Given the description of an element on the screen output the (x, y) to click on. 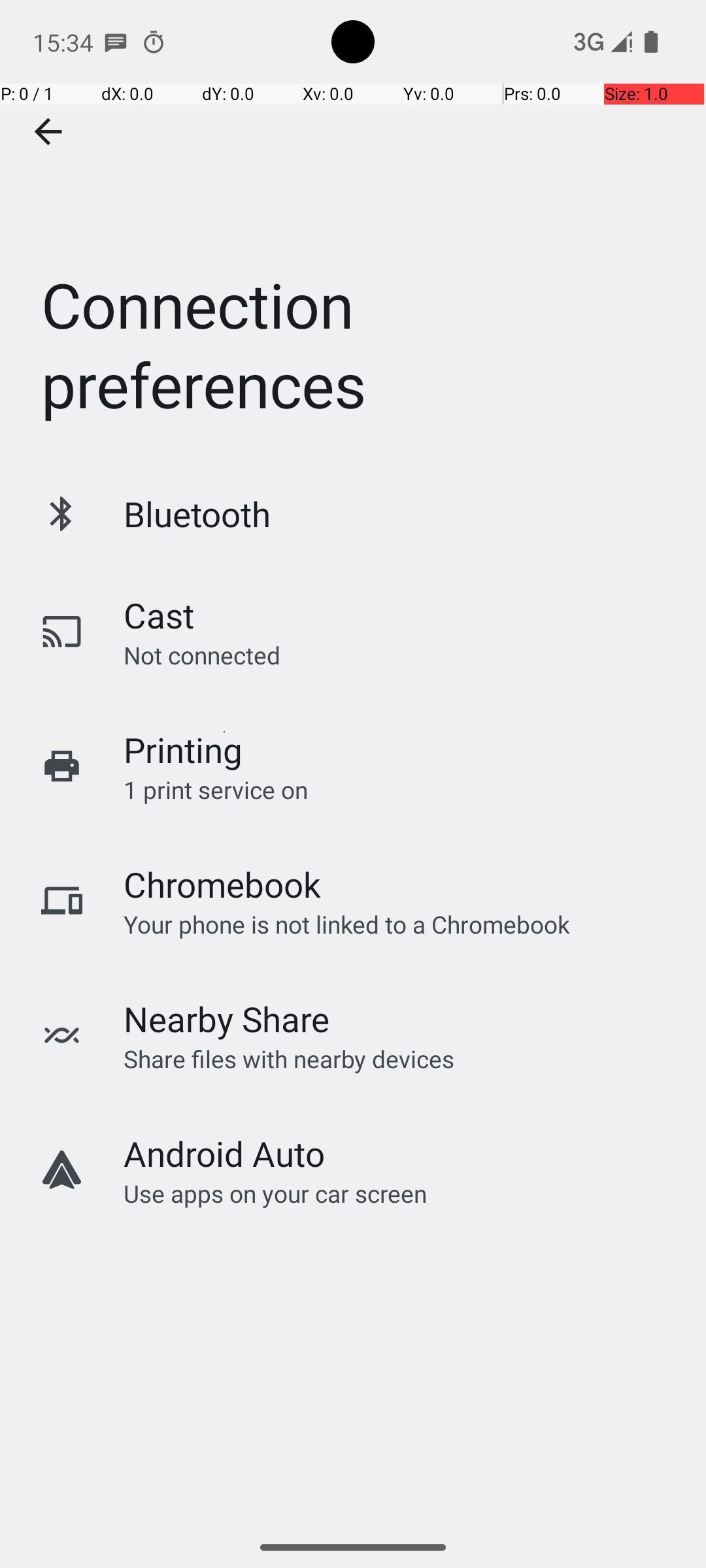
Bluetooth Element type: android.widget.TextView (197, 513)
Cast Element type: android.widget.TextView (158, 614)
Not connected Element type: android.widget.TextView (201, 654)
Printing Element type: android.widget.TextView (182, 749)
1 print service on Element type: android.widget.TextView (215, 789)
Chromebook Element type: android.widget.TextView (222, 884)
Your phone is not linked to a Chromebook Element type: android.widget.TextView (346, 923)
Share files with nearby devices Element type: android.widget.TextView (288, 1058)
Use apps on your car screen Element type: android.widget.TextView (275, 1192)
